Given the description of an element on the screen output the (x, y) to click on. 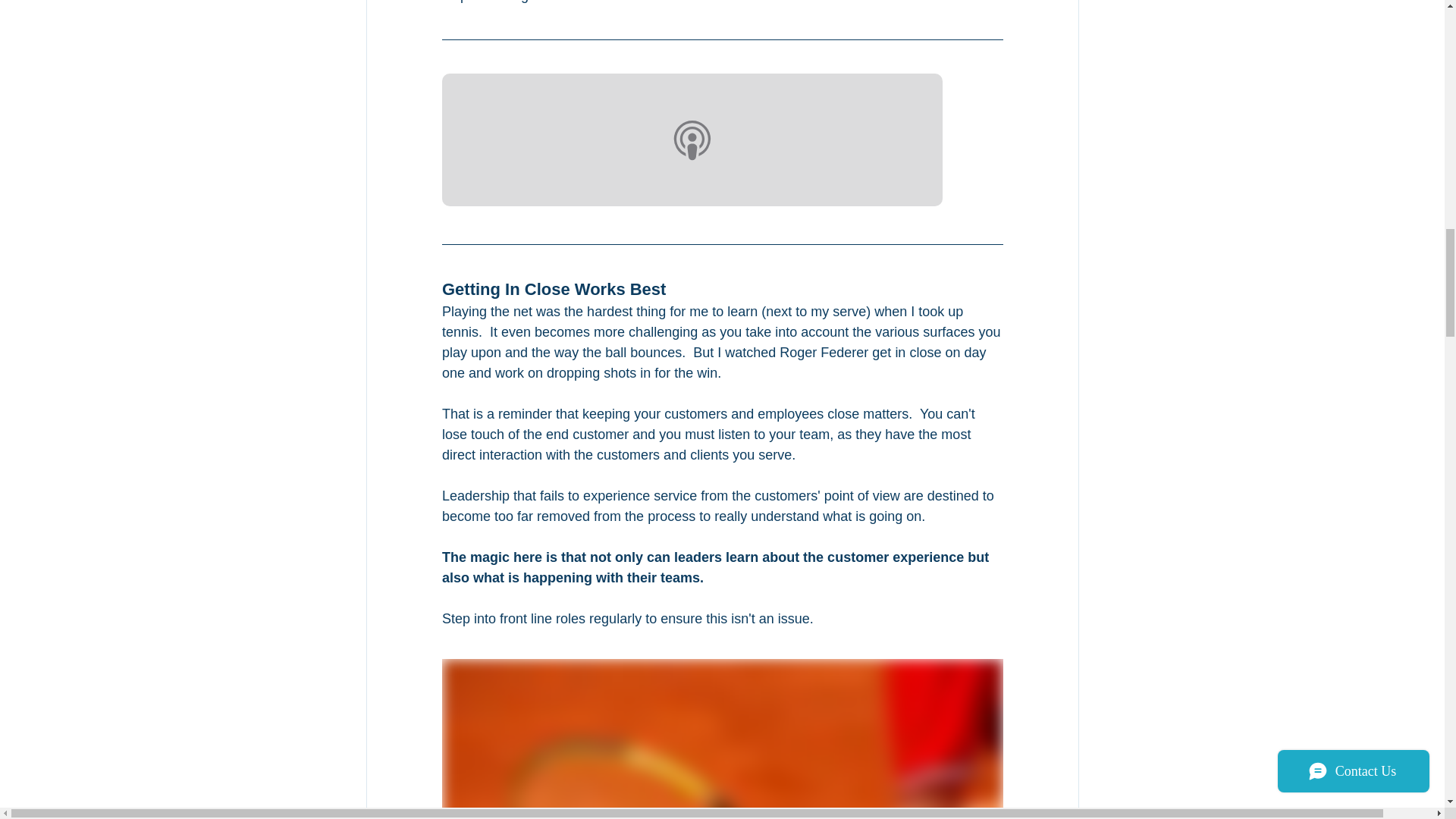
remote content (722, 141)
